Given the description of an element on the screen output the (x, y) to click on. 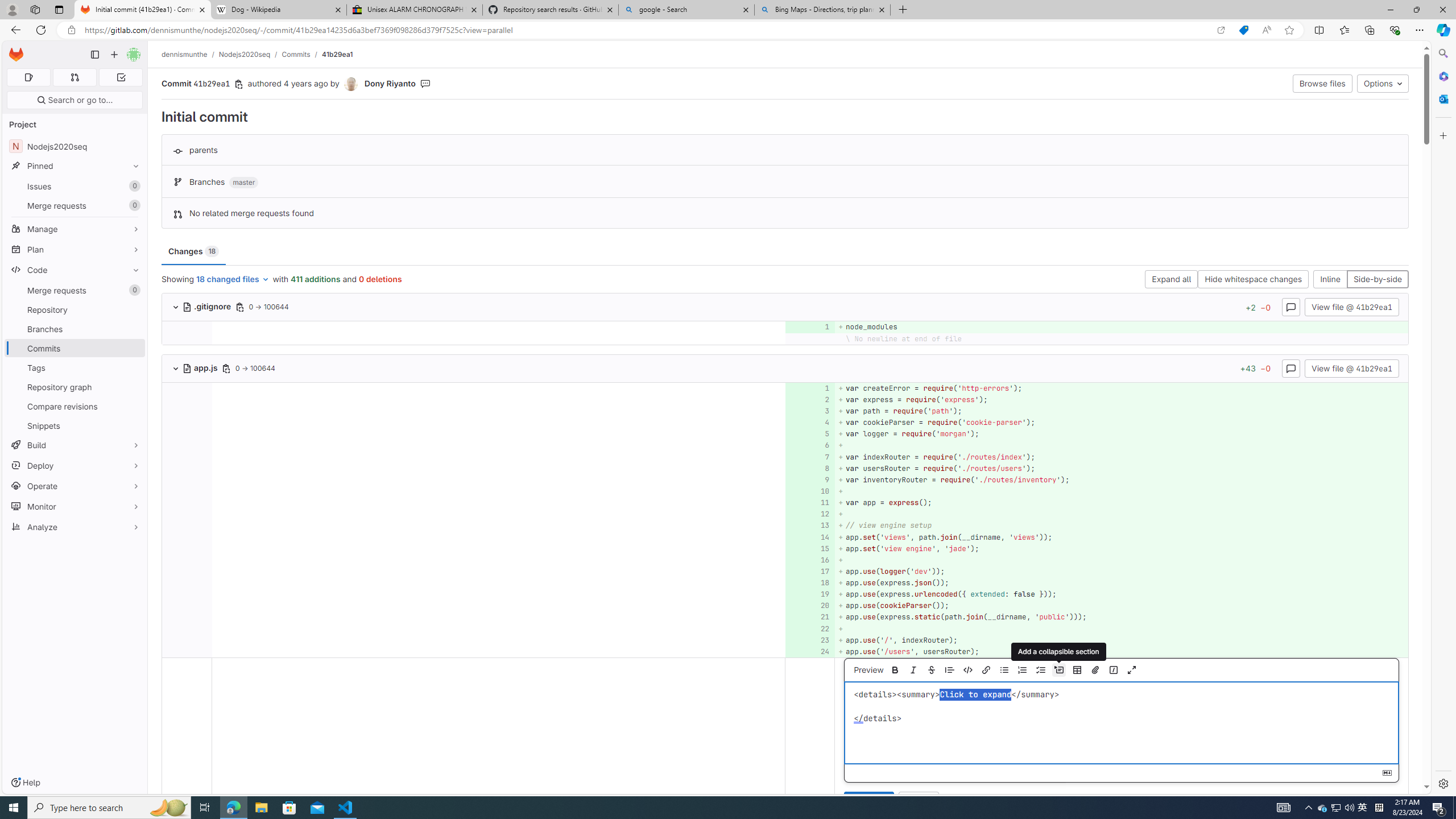
4 (808, 422)
Monitor (74, 506)
+ var inventoryRouter = require('./routes/inventory');  (1120, 479)
11 (808, 503)
Options (1382, 83)
Unpin Issues (132, 186)
Add a comment to this line 14 (809, 536)
Pin Branches (132, 328)
19 (808, 594)
dennismunthe (184, 53)
Manage (74, 228)
